Given the description of an element on the screen output the (x, y) to click on. 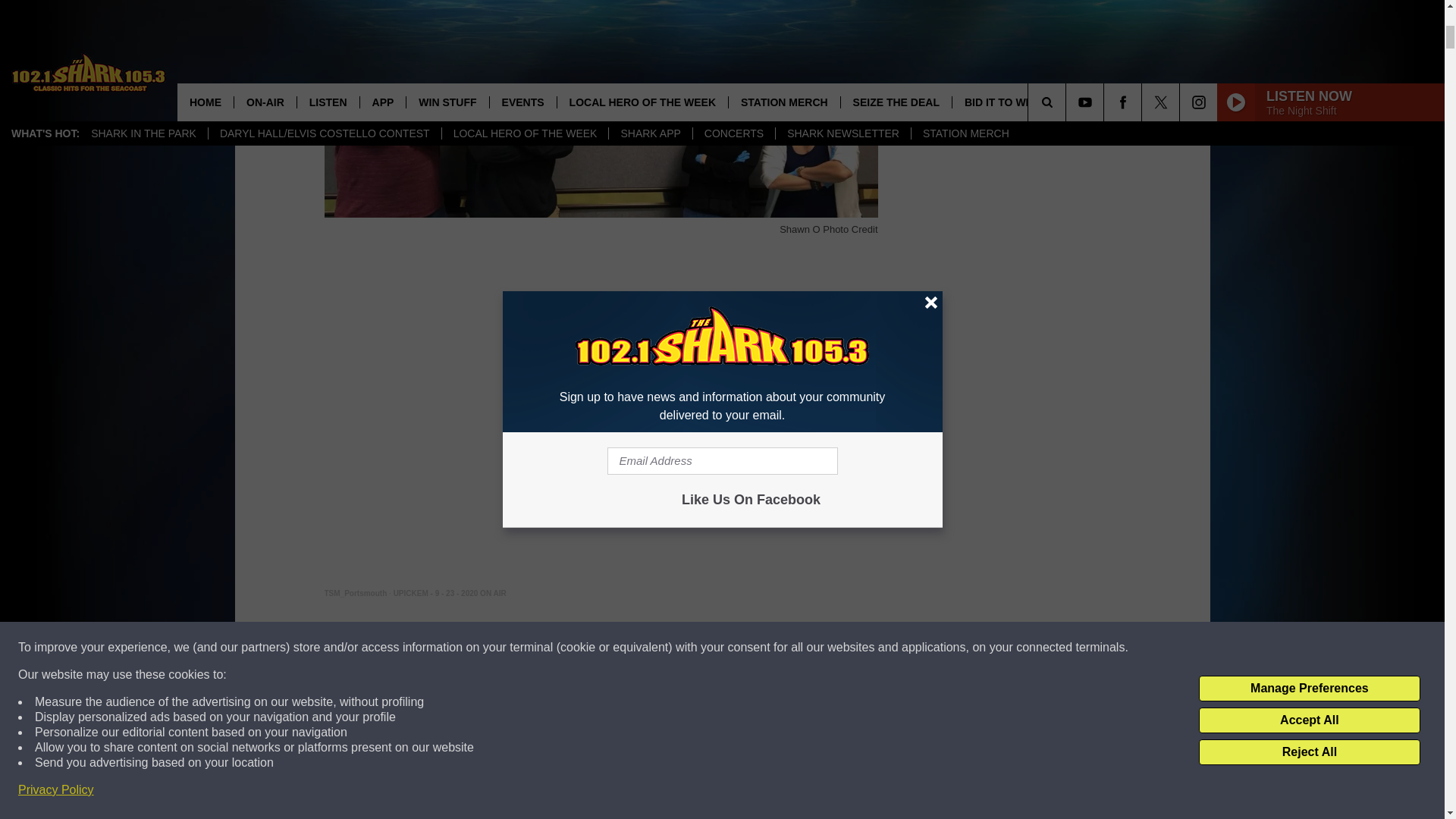
UPICKEM - 9 - 23 - 2020 ON AIR (449, 592)
